Given the description of an element on the screen output the (x, y) to click on. 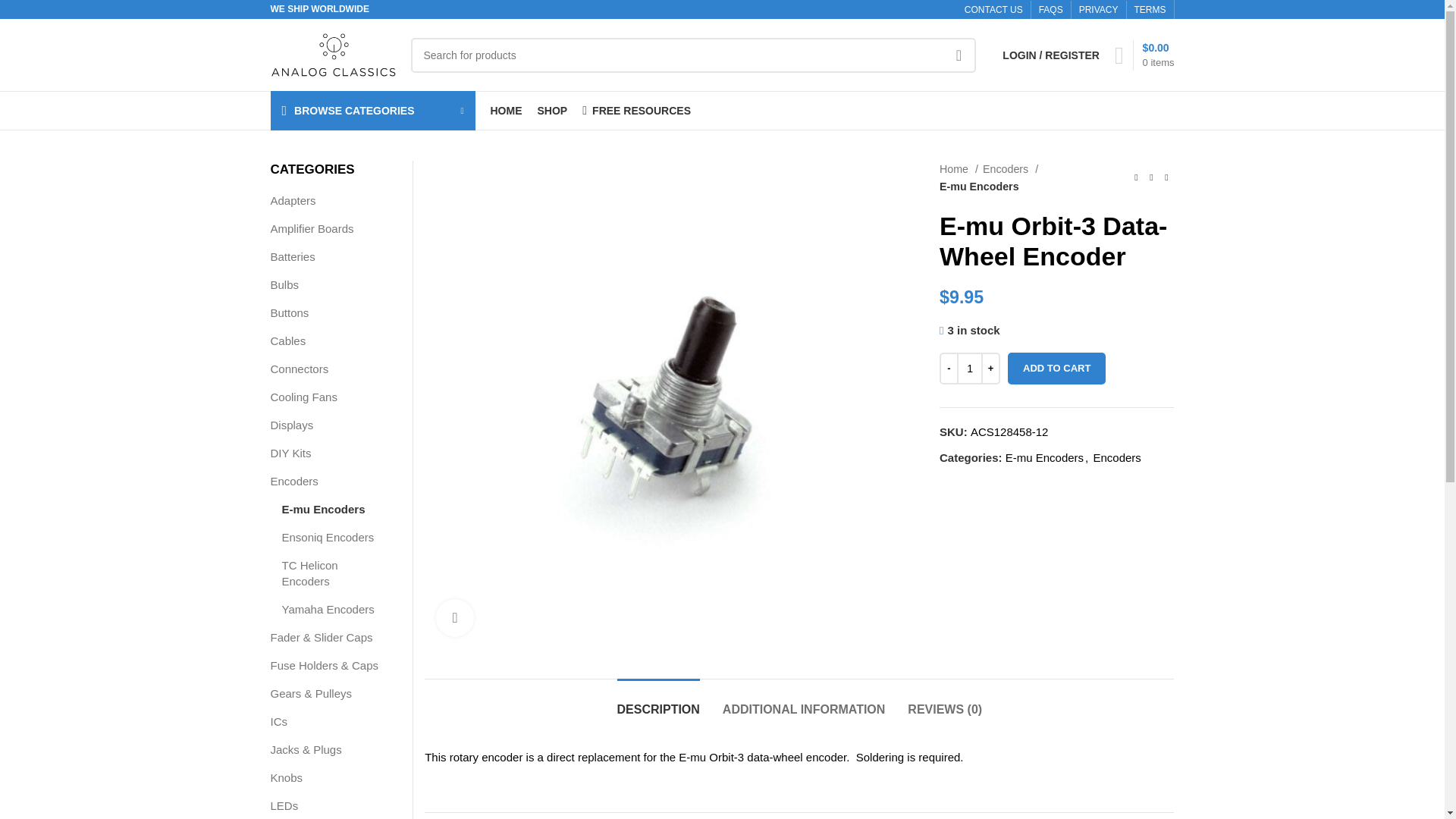
FREE RESOURCES (636, 110)
CONTACT US (993, 9)
PRIVACY (1098, 9)
Encoders (1010, 169)
SHOP (552, 110)
Log in (973, 300)
E-mu Encoders (979, 186)
Shopping cart (1144, 54)
My account (1050, 54)
